Given the description of an element on the screen output the (x, y) to click on. 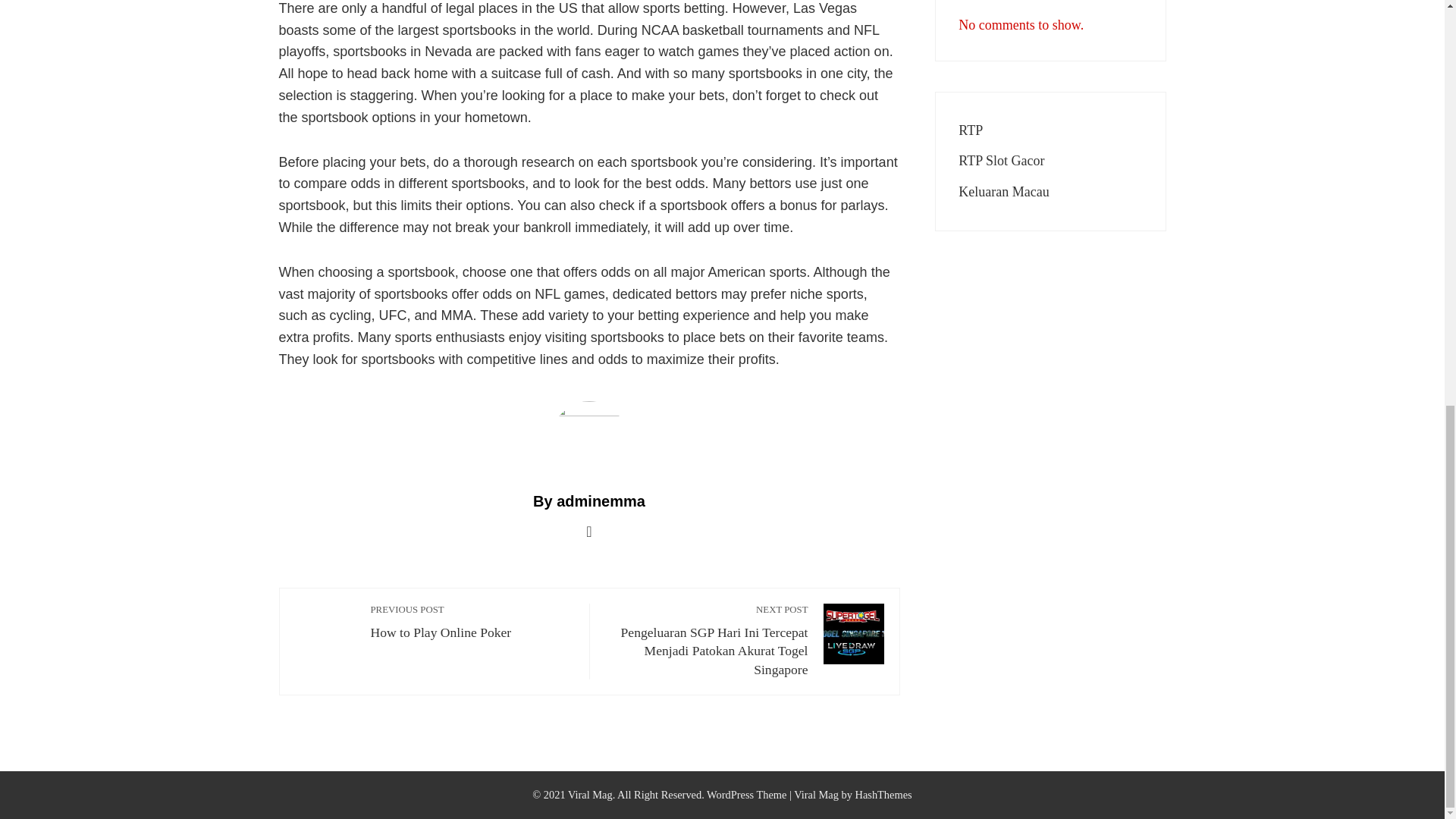
Download Viral News (815, 794)
Viral Mag (815, 794)
Keluaran Macau (1003, 191)
RTP (970, 130)
RTP Slot Gacor (1000, 160)
